Given the description of an element on the screen output the (x, y) to click on. 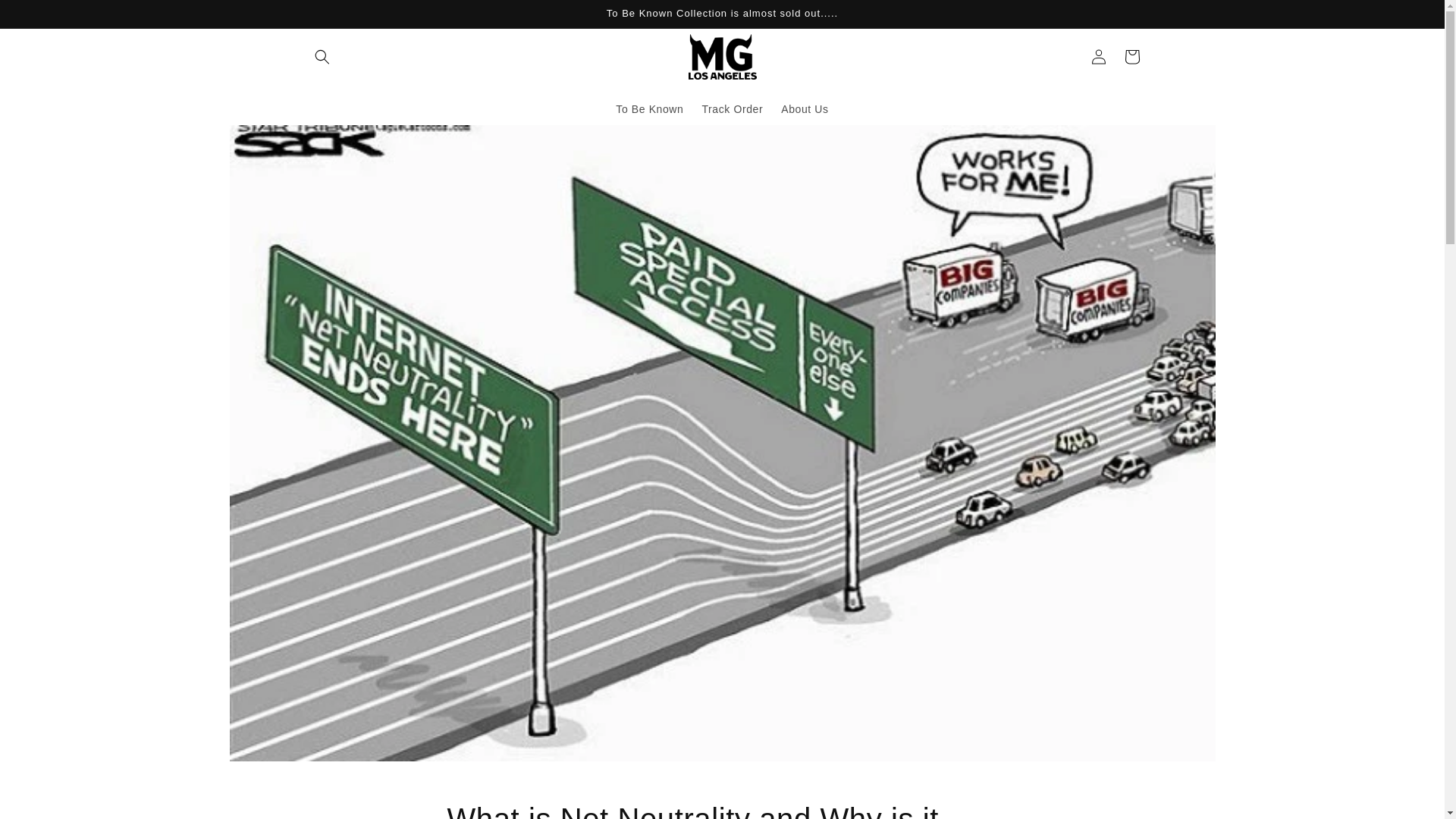
Cart (1131, 56)
Track Order (732, 109)
Log in (1098, 56)
About Us (804, 109)
Skip to content (45, 17)
To Be Known (650, 109)
